Given the description of an element on the screen output the (x, y) to click on. 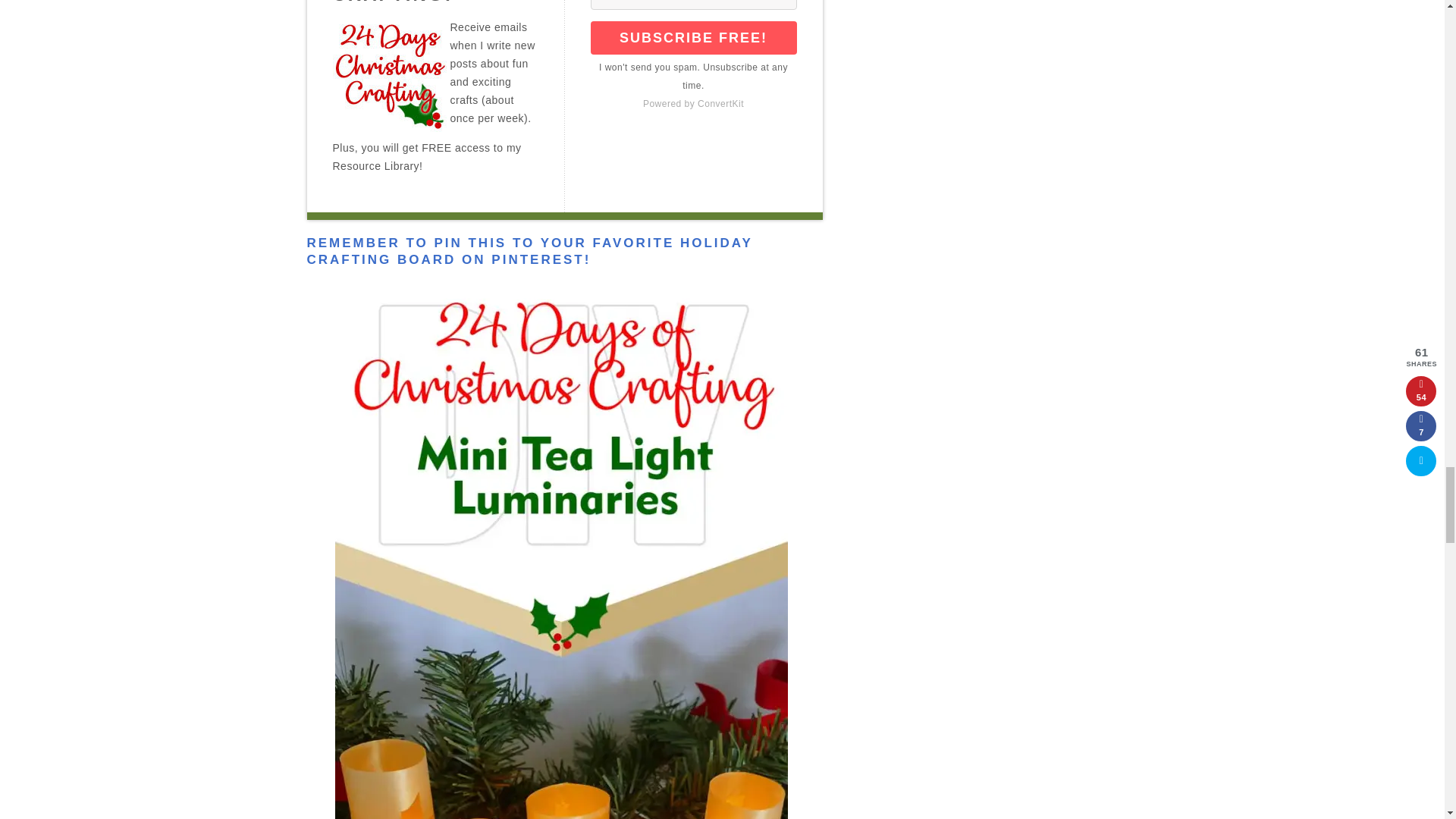
Powered by ConvertKit (692, 104)
SUBSCRIBE FREE! (692, 37)
